Given the description of an element on the screen output the (x, y) to click on. 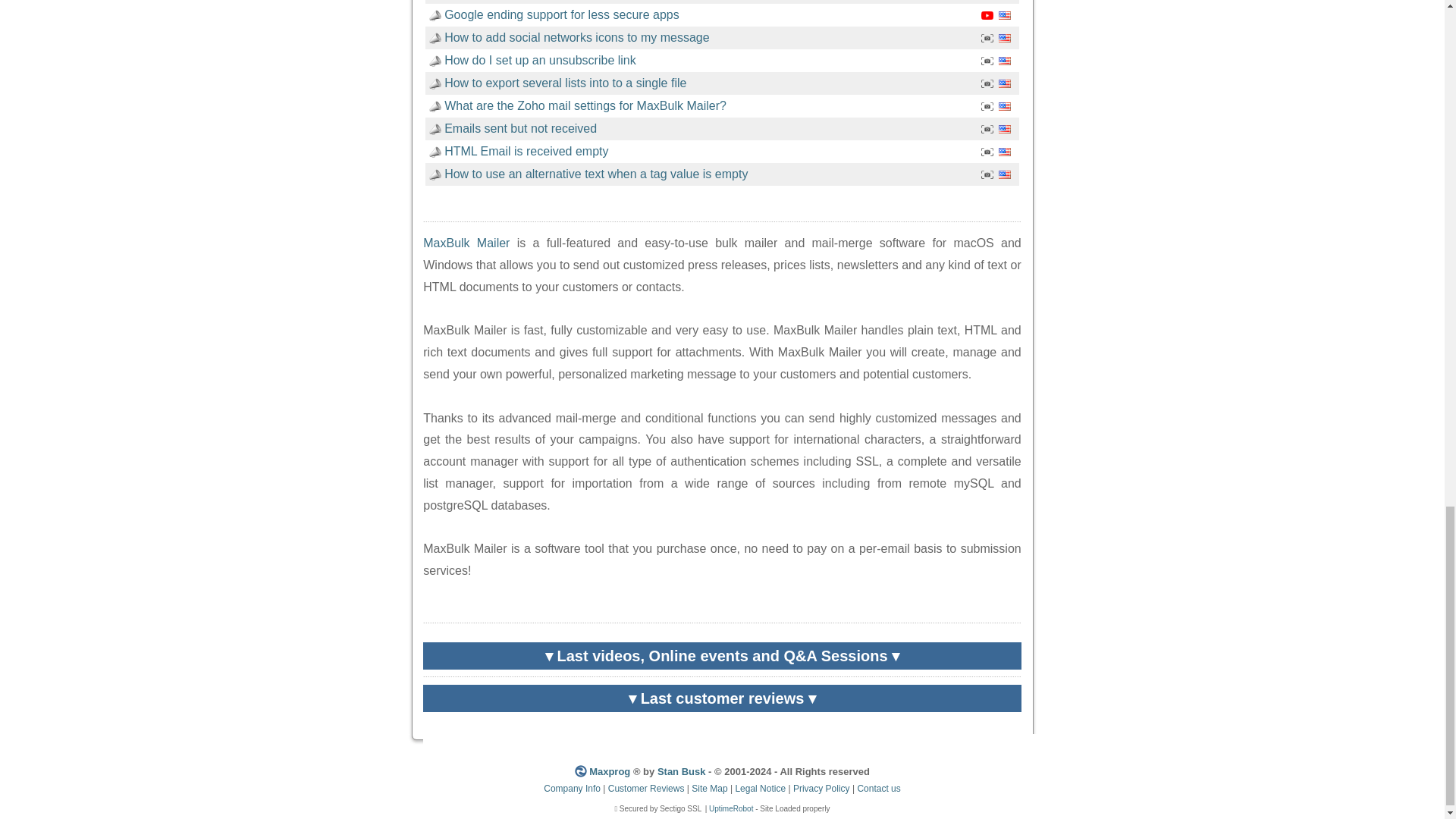
Contact us (878, 787)
How do I set up an unsubscribe link (540, 60)
Legal Notice (760, 787)
Maxprog (609, 771)
How to export several lists into to a single file (564, 82)
UptimeRobot (730, 808)
MaxBulk Mailer (466, 242)
HTML Email is received empty (526, 151)
Site Map (708, 787)
How to use an alternative text when a tag value is empty (596, 173)
